Given the description of an element on the screen output the (x, y) to click on. 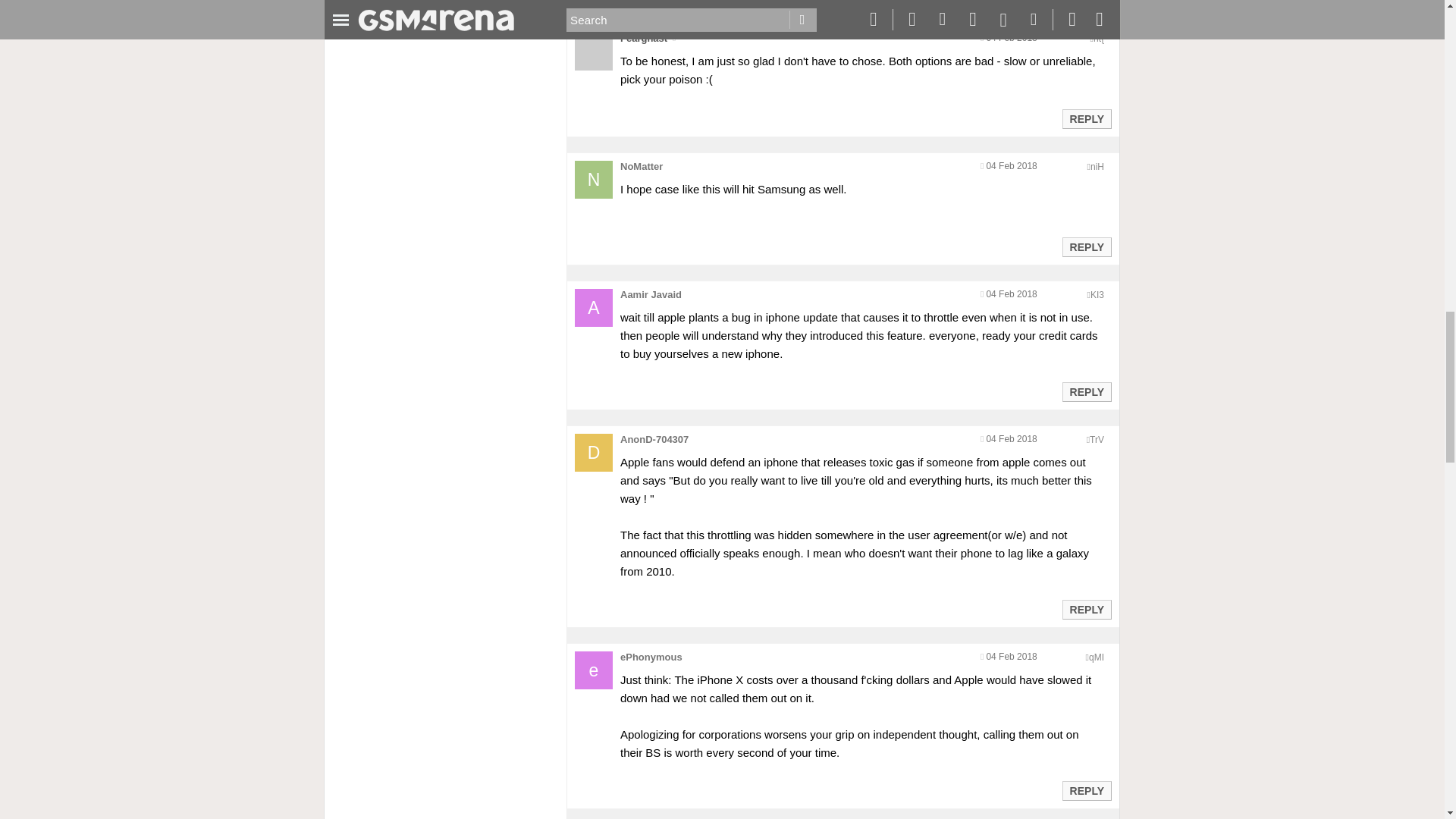
Encoded anonymized location (1096, 294)
Encoded anonymized location (1098, 38)
Reply to this post (1086, 119)
Reply to this post (1086, 246)
Encoded anonymized location (1096, 166)
